Given the description of an element on the screen output the (x, y) to click on. 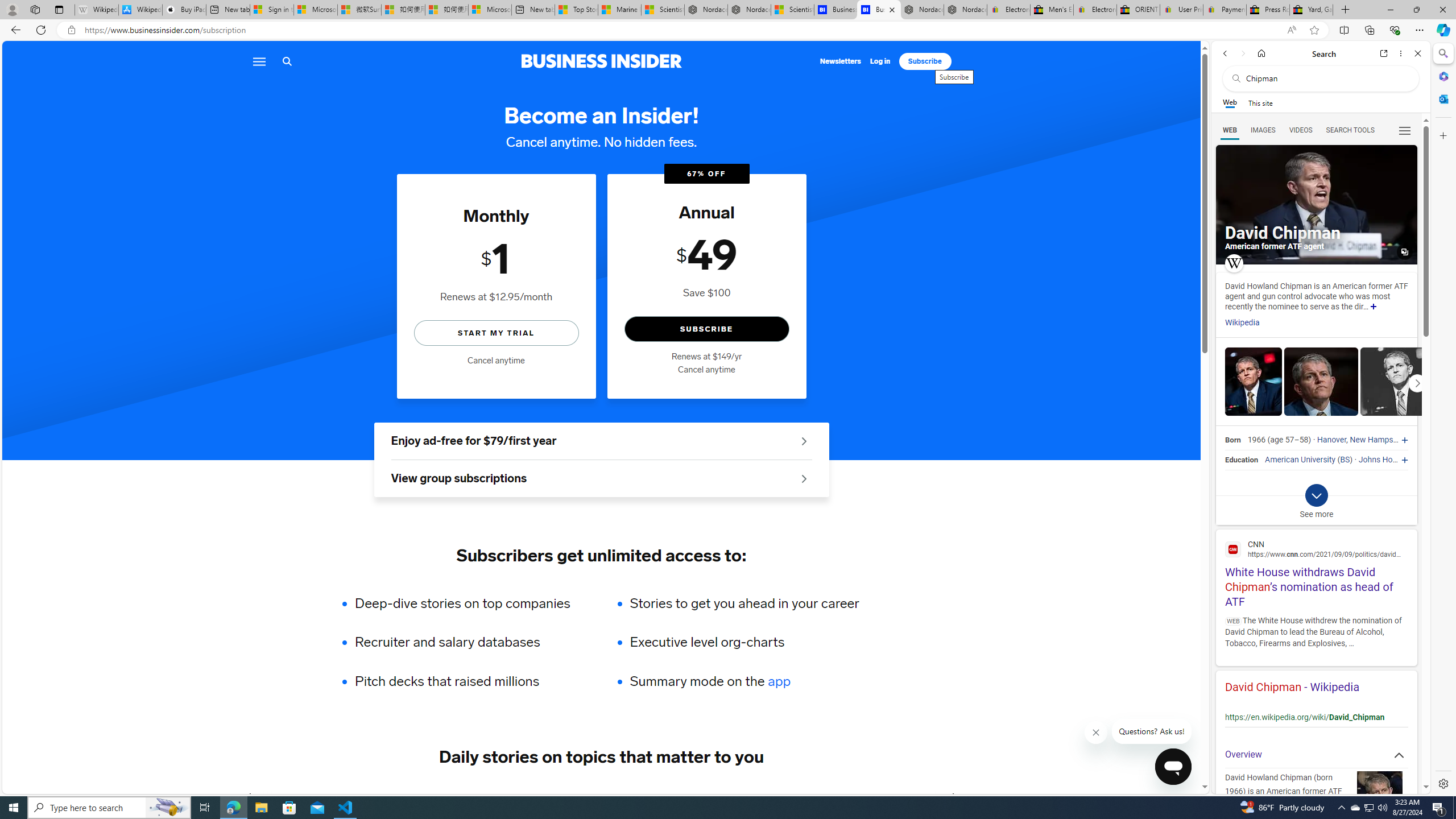
View details (1396, 382)
SUBSCRIBE (706, 329)
Hanover (1331, 439)
MEDIA (953, 796)
